Given the description of an element on the screen output the (x, y) to click on. 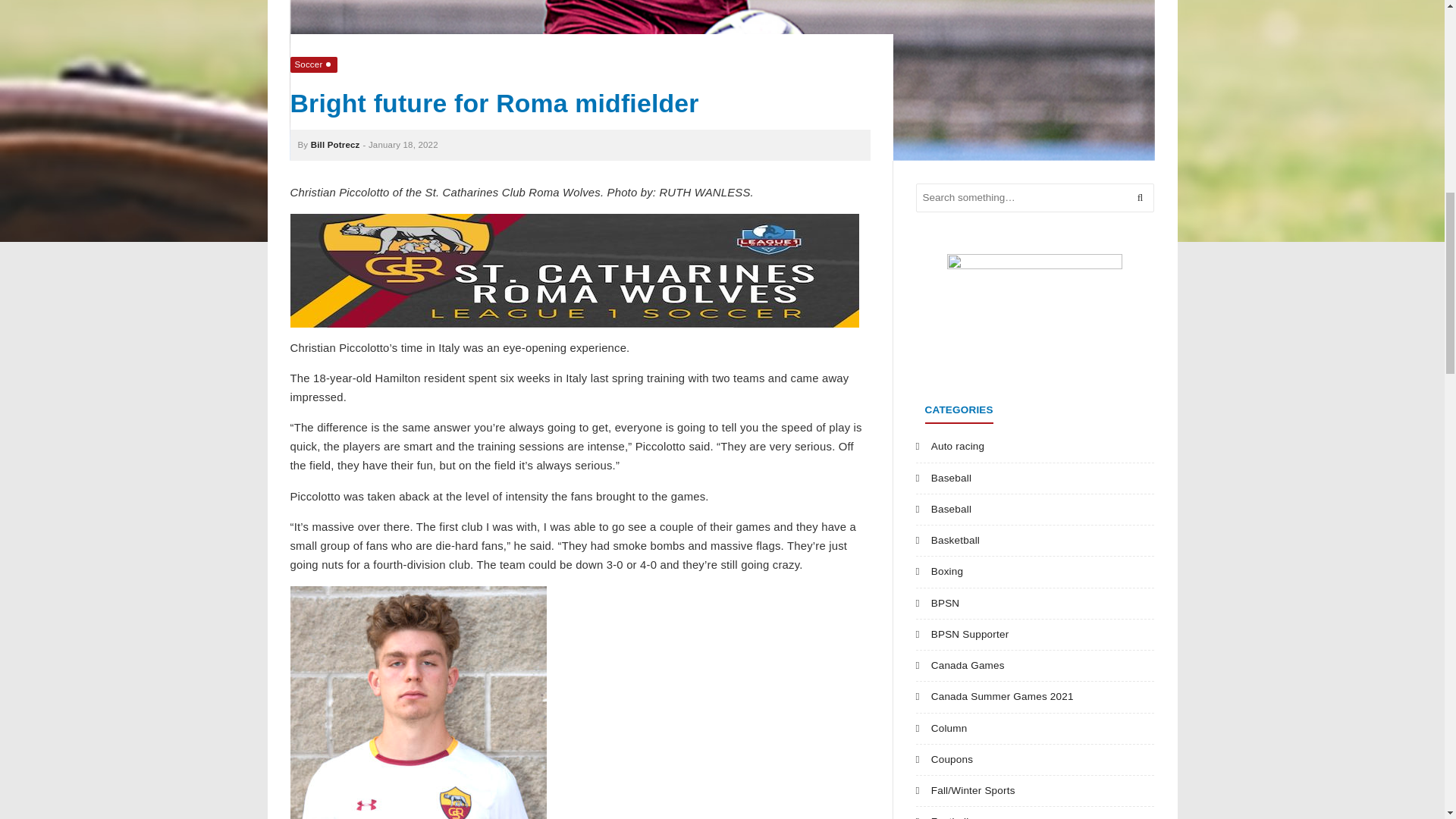
Search (1139, 197)
